Given the description of an element on the screen output the (x, y) to click on. 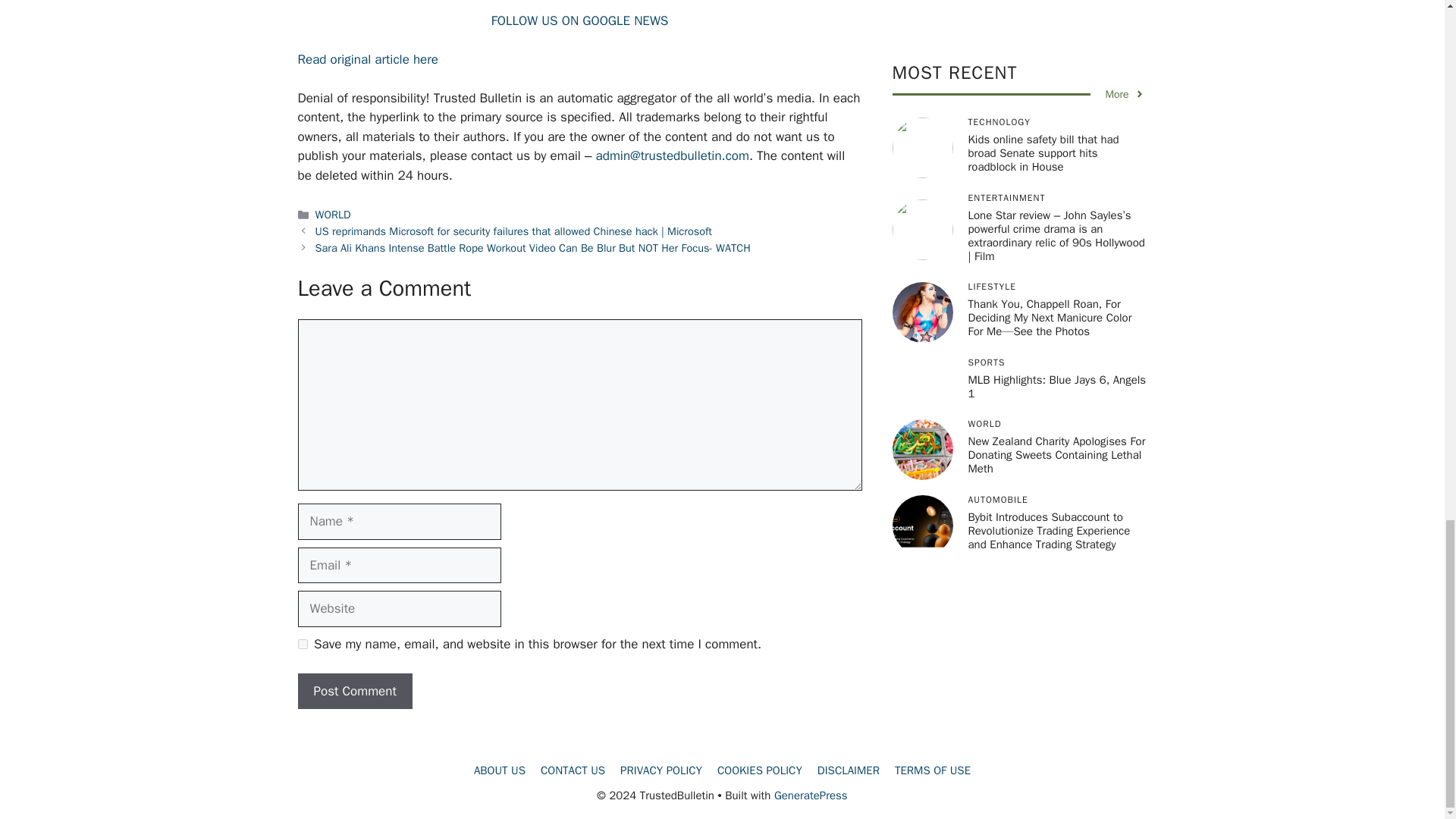
yes (302, 644)
FOLLOW US ON GOOGLE NEWS (580, 20)
Post Comment (354, 691)
WORLD (332, 214)
Read original article here (367, 59)
Scroll back to top (1406, 91)
Post Comment (354, 691)
